Given the description of an element on the screen output the (x, y) to click on. 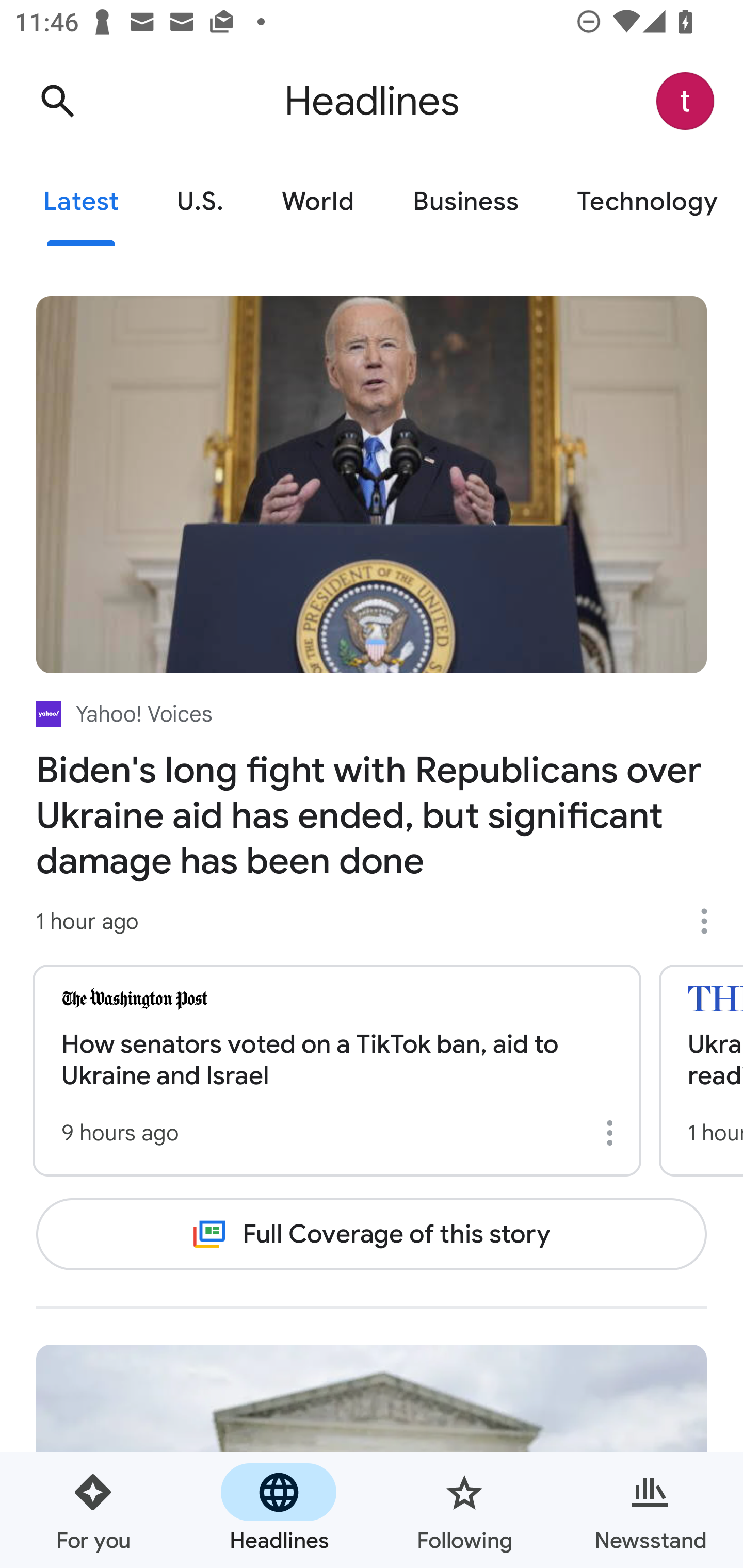
Search (57, 100)
U.S. (199, 202)
World (317, 202)
Business (465, 202)
Technology (645, 202)
More options (711, 921)
More options (613, 1132)
Full Coverage of this story (371, 1233)
For you (92, 1509)
Headlines (278, 1509)
Following (464, 1509)
Newsstand (650, 1509)
